Given the description of an element on the screen output the (x, y) to click on. 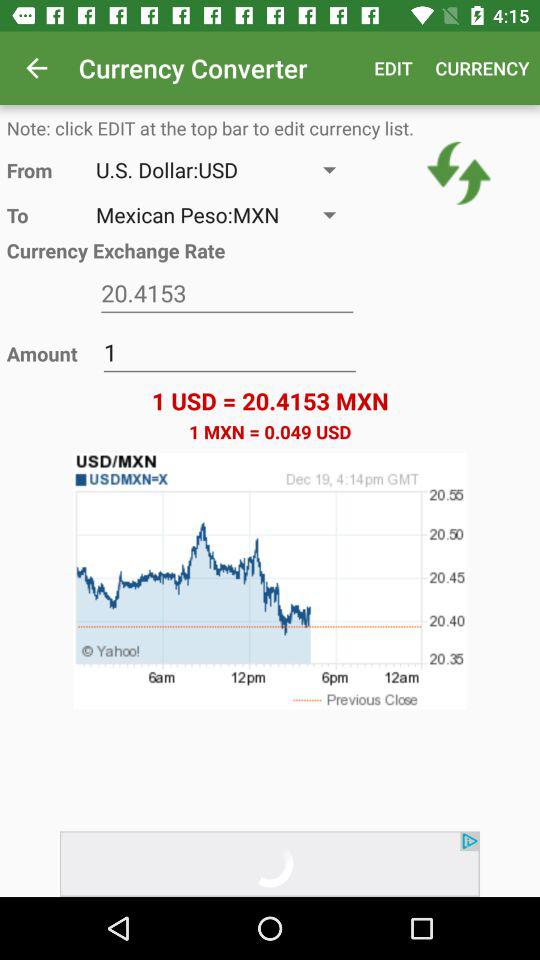
coverted to (227, 293)
